Given the description of an element on the screen output the (x, y) to click on. 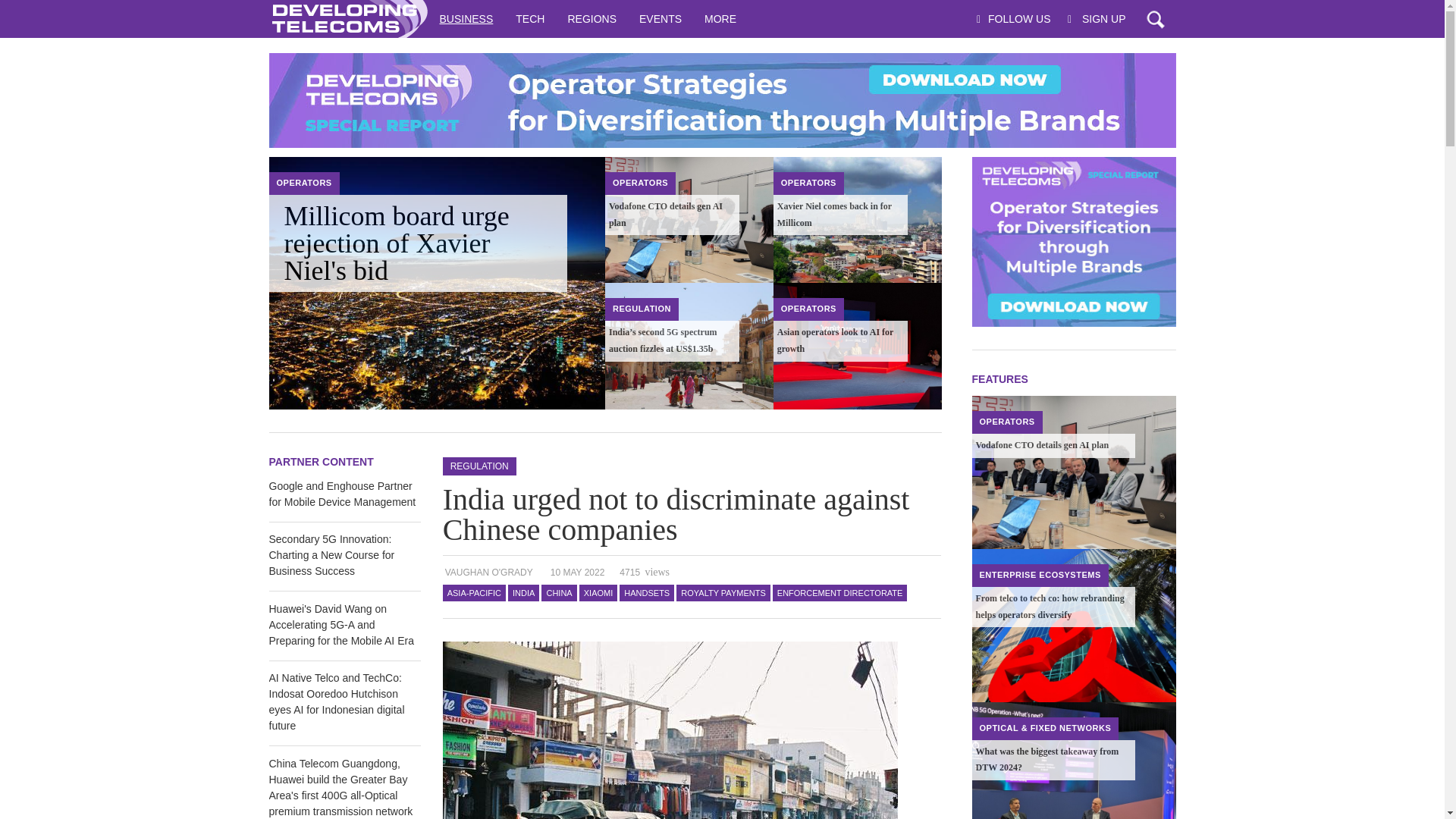
BUSINESS (465, 18)
Click to follow link (720, 100)
Operators (303, 182)
Operators (807, 182)
TECH (529, 18)
Developing Telecoms (347, 18)
REGIONS (591, 18)
Operators (640, 182)
